Given the description of an element on the screen output the (x, y) to click on. 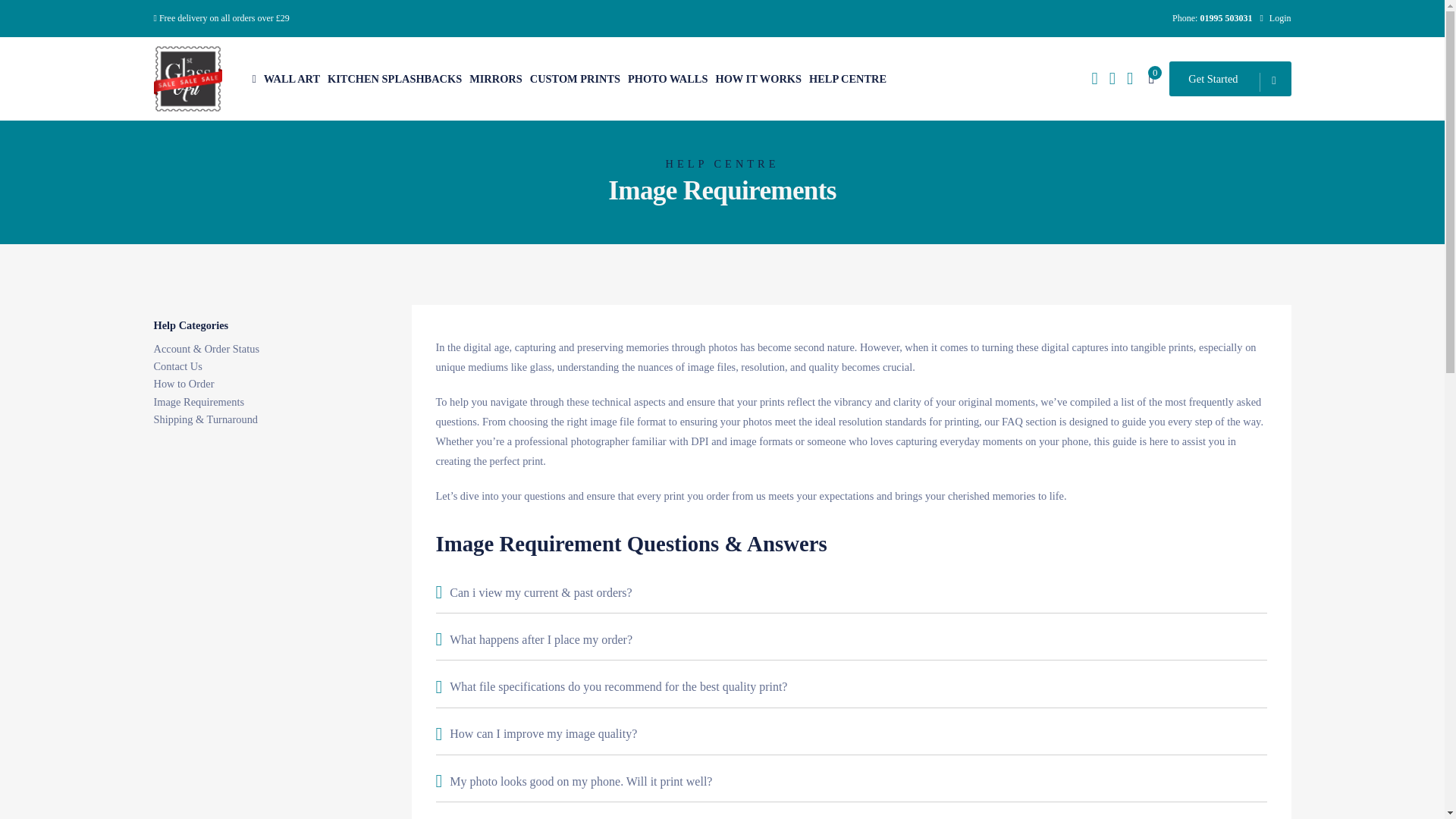
PHOTO WALLS (667, 78)
KITCHEN SPLASHBACKS (394, 78)
MIRRORS (495, 78)
Get Started (1229, 78)
How can I improve my image quality? (850, 733)
How can I check the DPI of my images? (850, 813)
Contact Us (177, 366)
WALL ART (291, 78)
Image Requirements (197, 401)
CUSTOM PRINTS (574, 78)
